Given the description of an element on the screen output the (x, y) to click on. 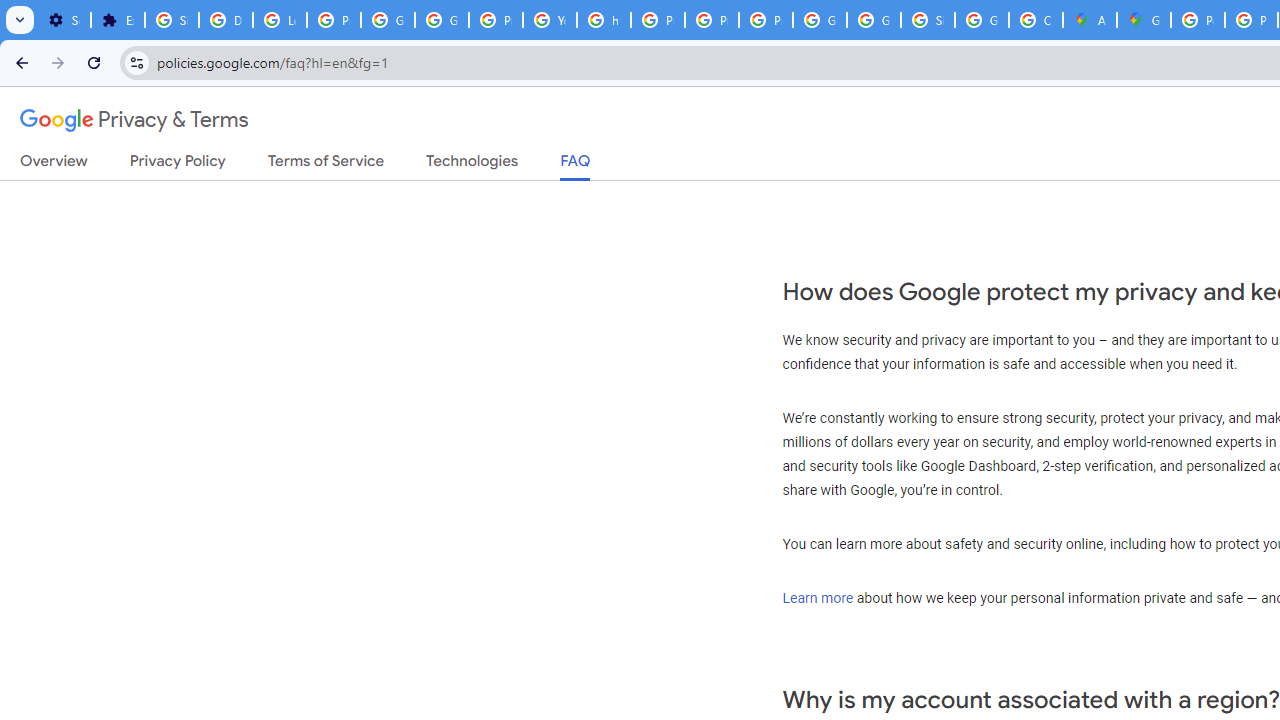
Google Account Help (441, 20)
YouTube (550, 20)
Privacy Help Center - Policies Help (657, 20)
Technologies (472, 165)
FAQ (575, 166)
https://scholar.google.com/ (604, 20)
Privacy & Terms (134, 120)
Policy Accountability and Transparency - Transparency Center (1197, 20)
Extensions (117, 20)
